Given the description of an element on the screen output the (x, y) to click on. 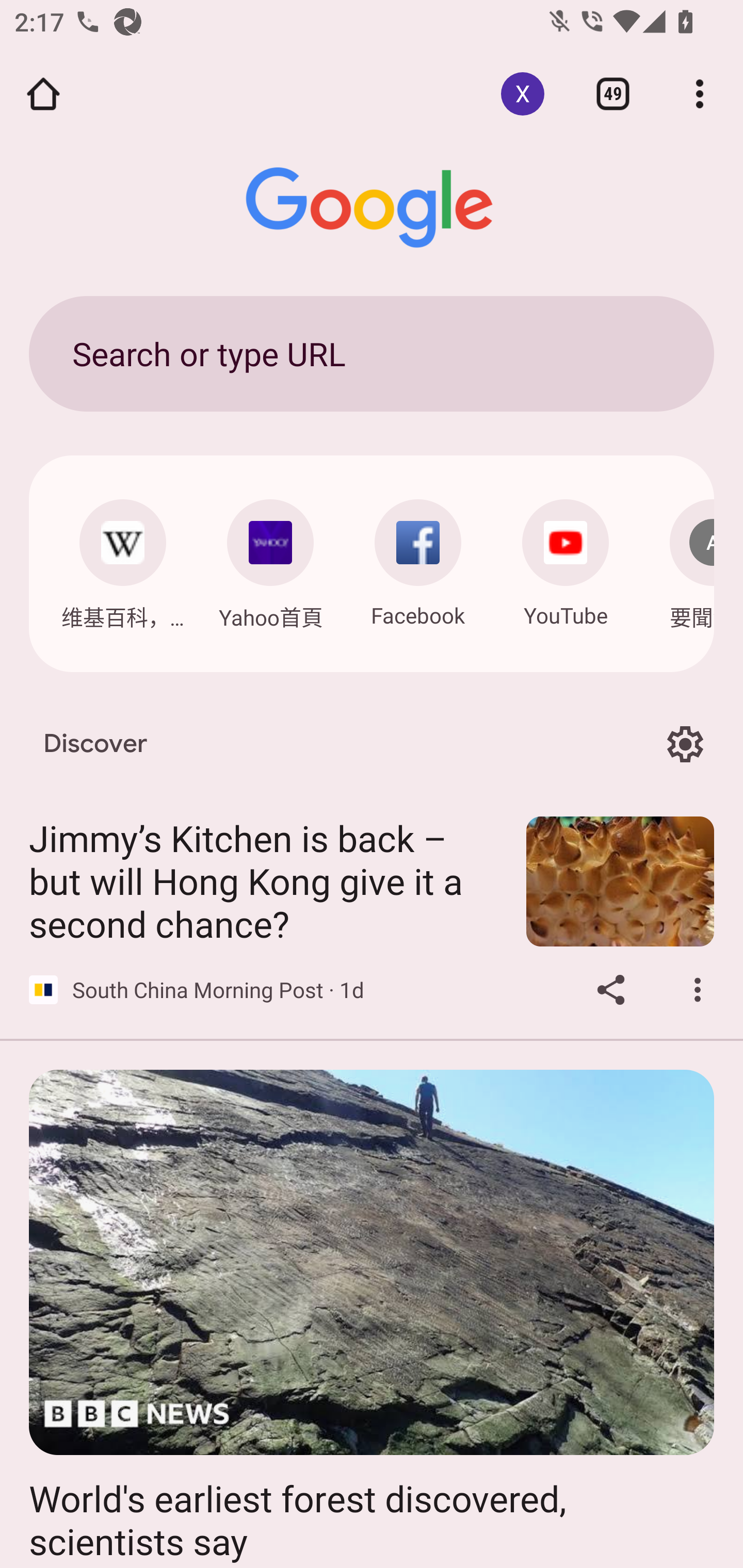
Open the home page (43, 93)
Switch or close tabs (612, 93)
Customize and control Google Chrome (699, 93)
Search or type URL (371, 353)
Navigate: Yahoo首頁: hk.mobi.yahoo.com Yahoo首頁 (270, 558)
Navigate: Facebook: m.facebook.com Facebook (417, 558)
Navigate: YouTube: m.youtube.com YouTube (565, 558)
Options for Discover (684, 743)
